Given the description of an element on the screen output the (x, y) to click on. 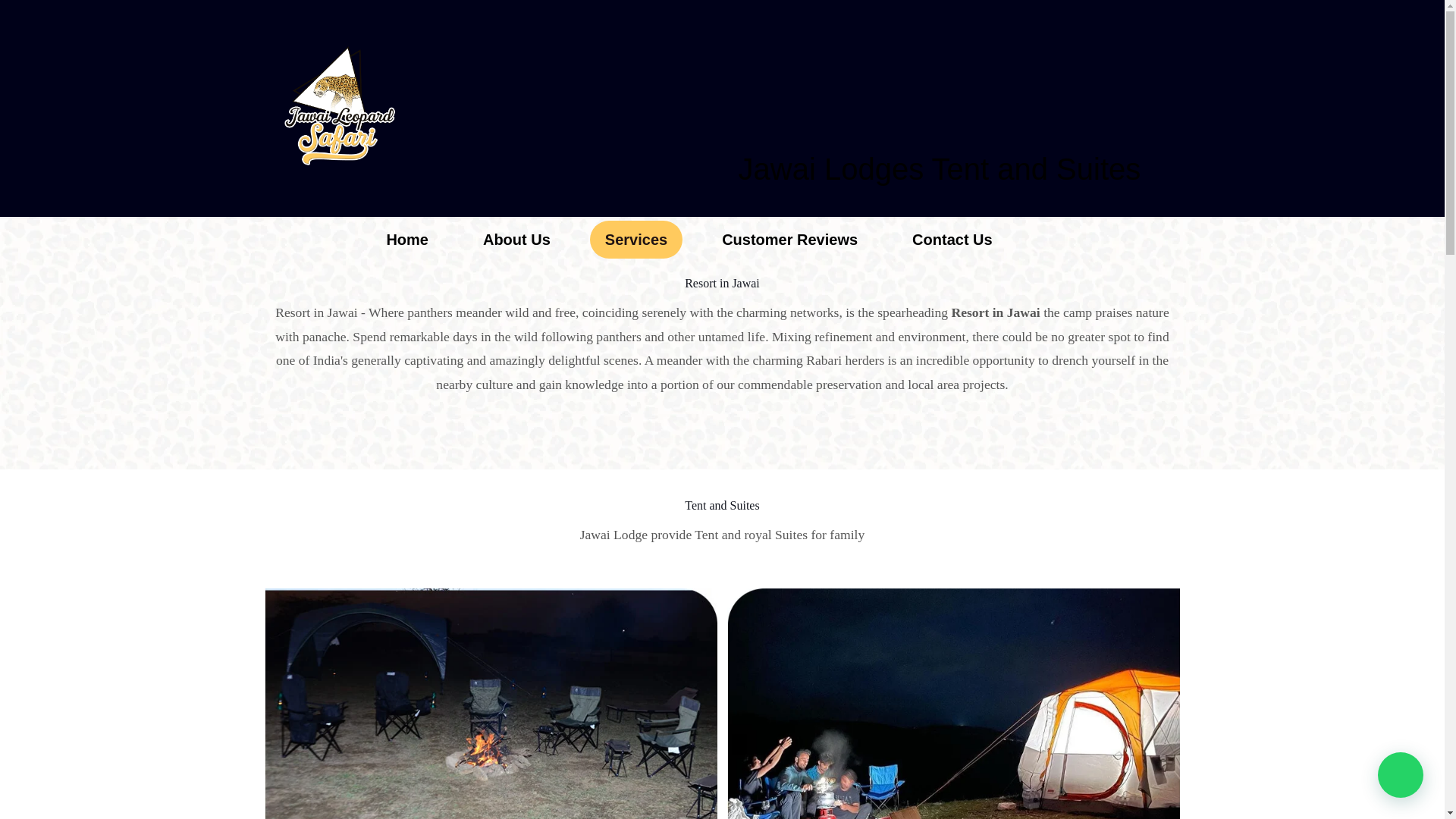
Customer Reviews (789, 239)
Services (635, 239)
Home (407, 239)
Contact Us (951, 239)
Jawai Leopard Safari (339, 106)
About Us (516, 239)
